Given the description of an element on the screen output the (x, y) to click on. 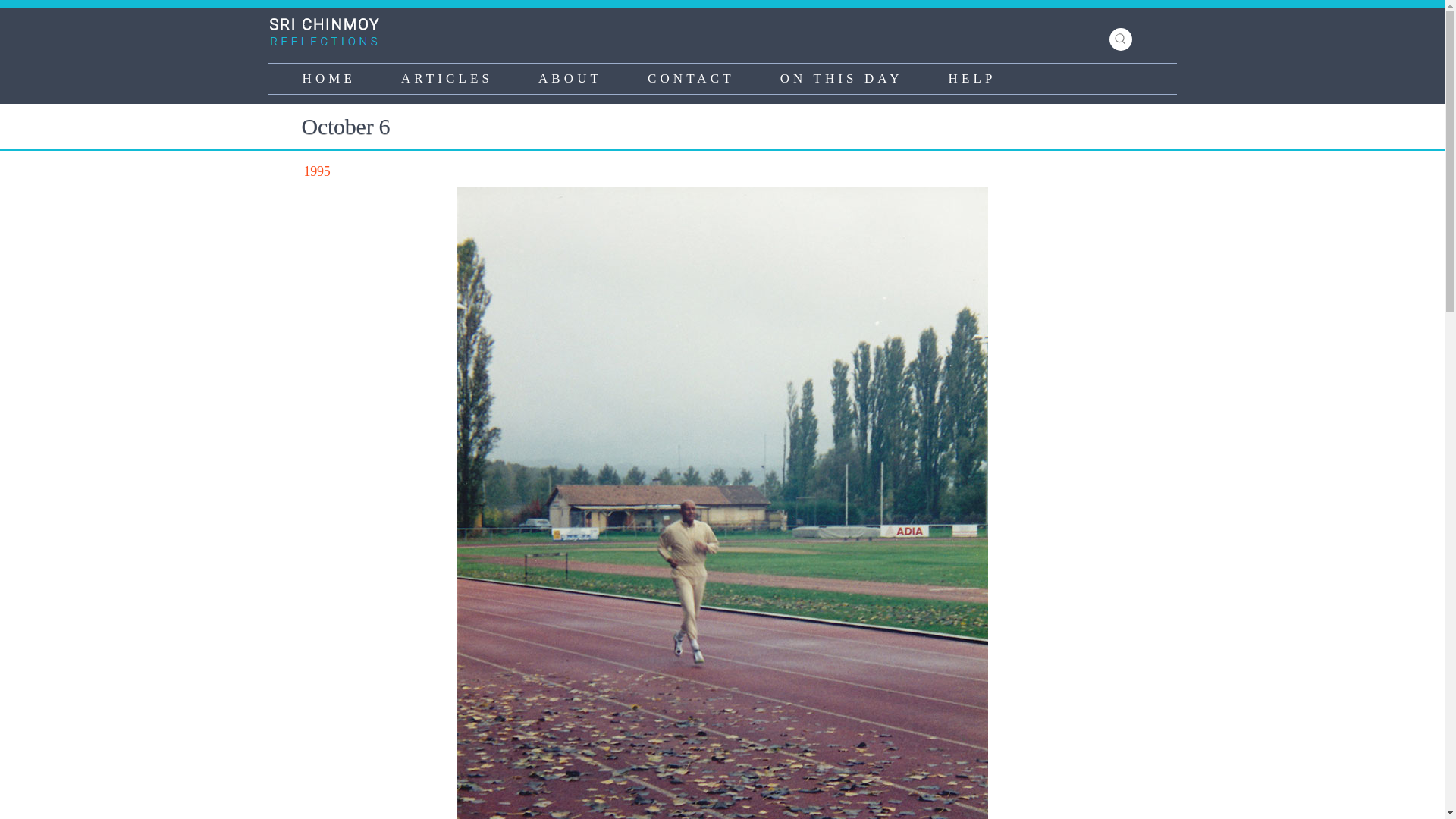
Home (328, 31)
Menu (1159, 39)
